Given the description of an element on the screen output the (x, y) to click on. 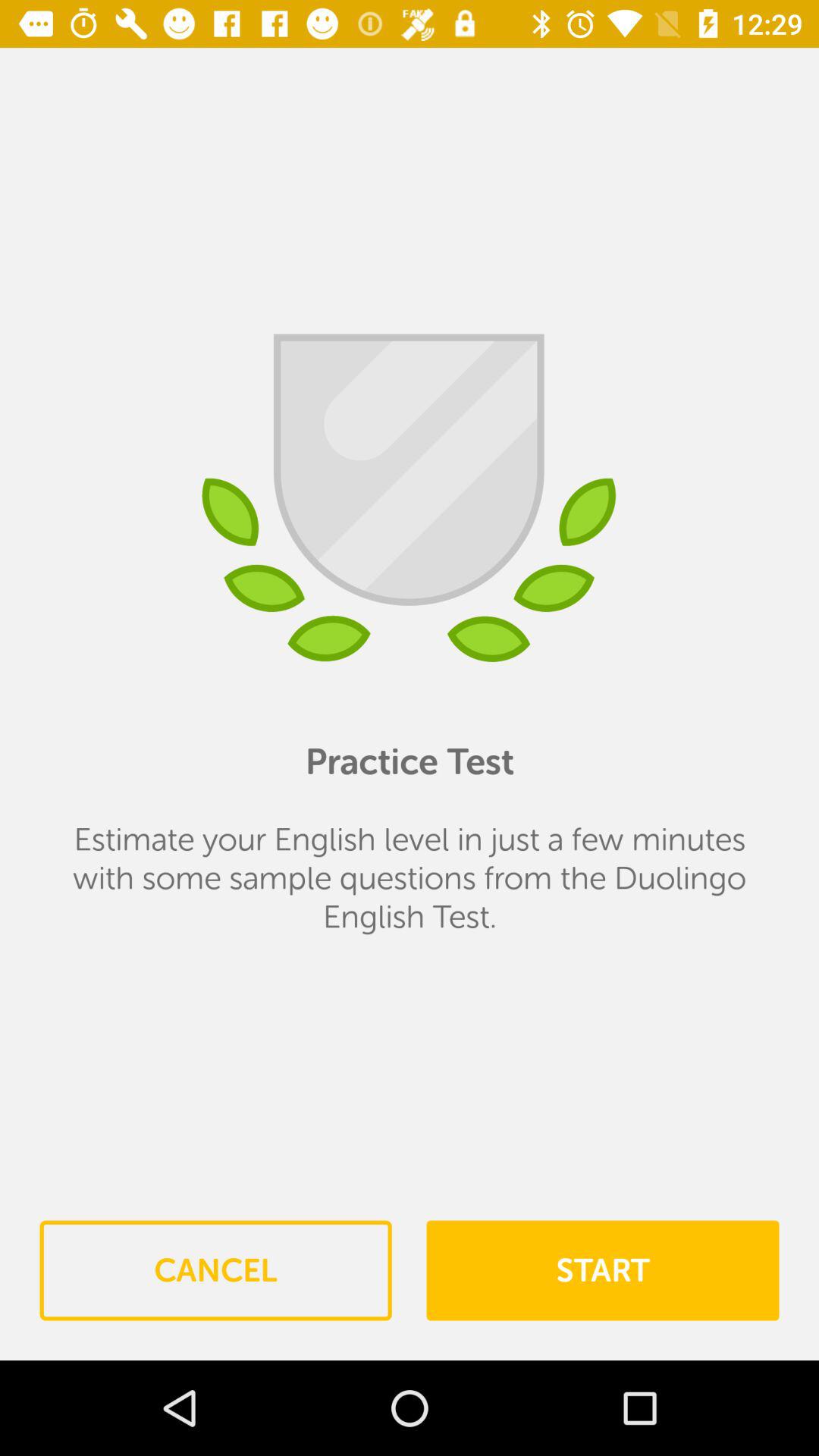
turn off the icon at the bottom left corner (215, 1270)
